Given the description of an element on the screen output the (x, y) to click on. 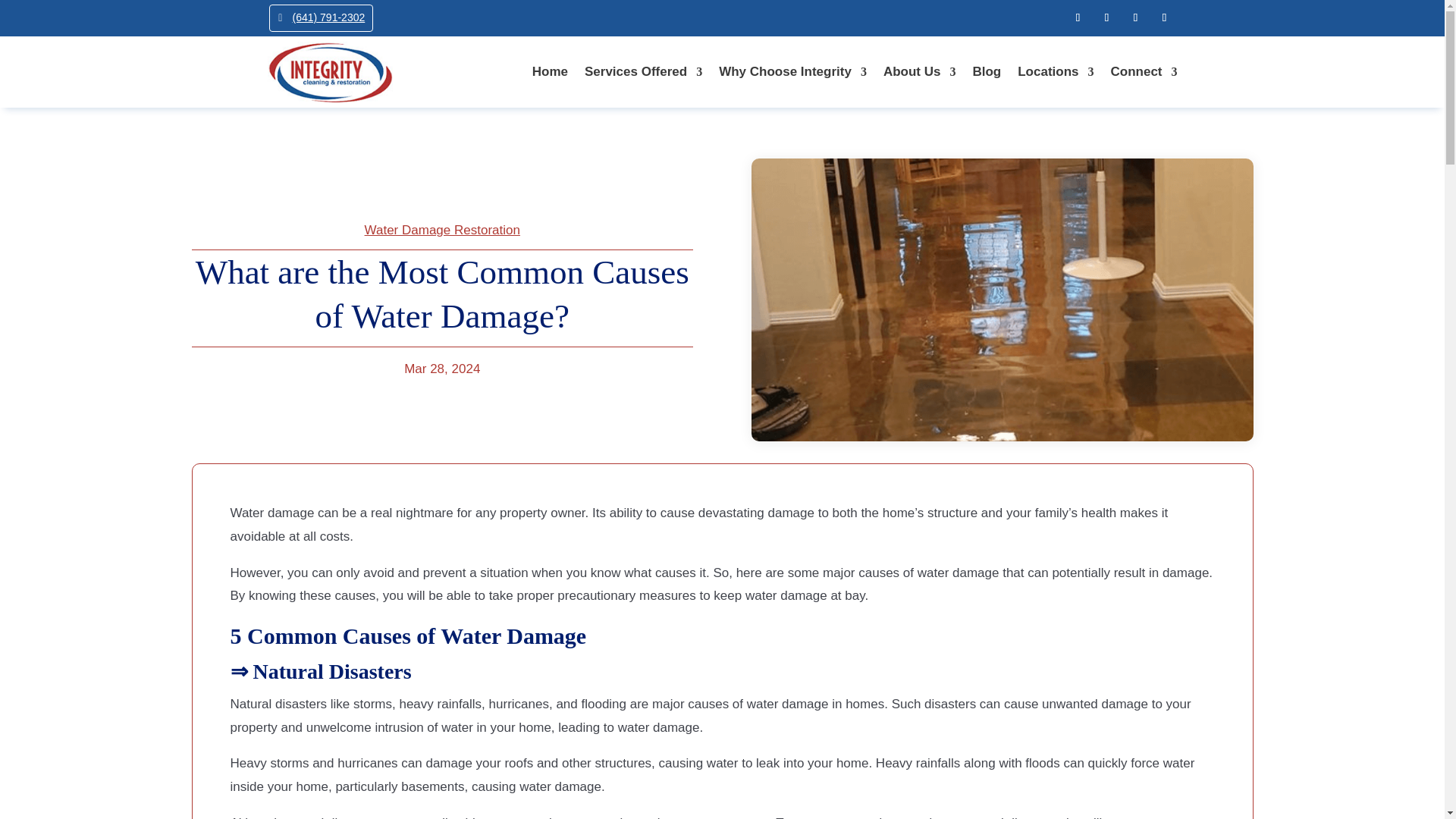
Follow on Facebook (1077, 16)
Follow on Google (1163, 16)
Follow on Instagram (1106, 16)
Why Choose Integrity (792, 72)
About Us (919, 72)
Locations (1055, 72)
Services Offered (643, 72)
Follow on Yelp (1135, 16)
